Given the description of an element on the screen output the (x, y) to click on. 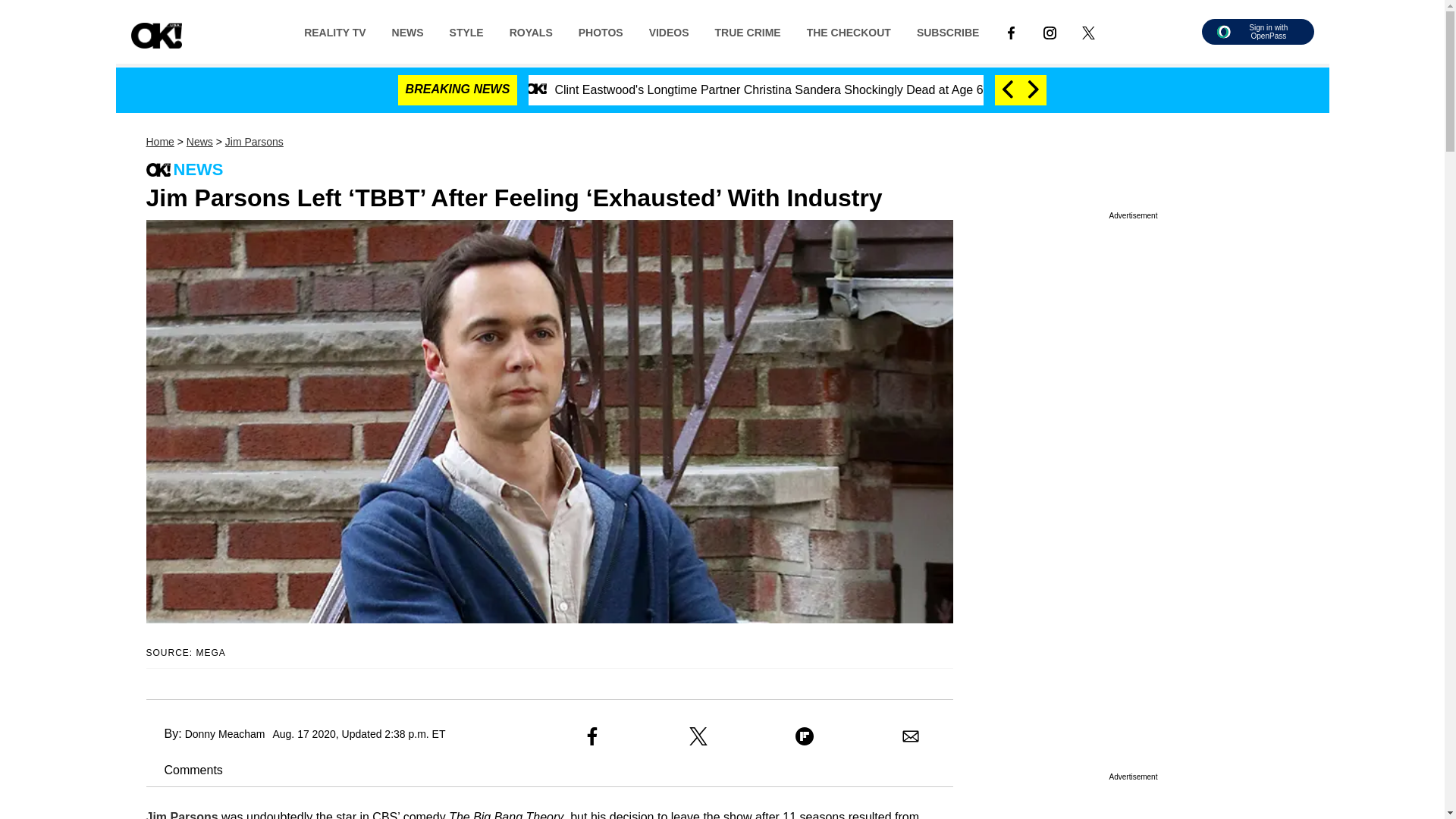
LINK TO FACEBOOK (1010, 32)
Link to Instagram (1049, 31)
Share to X (697, 736)
Home (159, 141)
STYLE (466, 31)
SUBSCRIBE (947, 31)
PHOTOS (601, 31)
Share to Facebook (590, 736)
VIDEOS (668, 31)
Donny Meacham (224, 734)
Share to Flipboard (803, 736)
Link to X (1088, 31)
Link to Facebook (1010, 31)
ROYALS (531, 31)
Jim Parsons (254, 141)
